Given the description of an element on the screen output the (x, y) to click on. 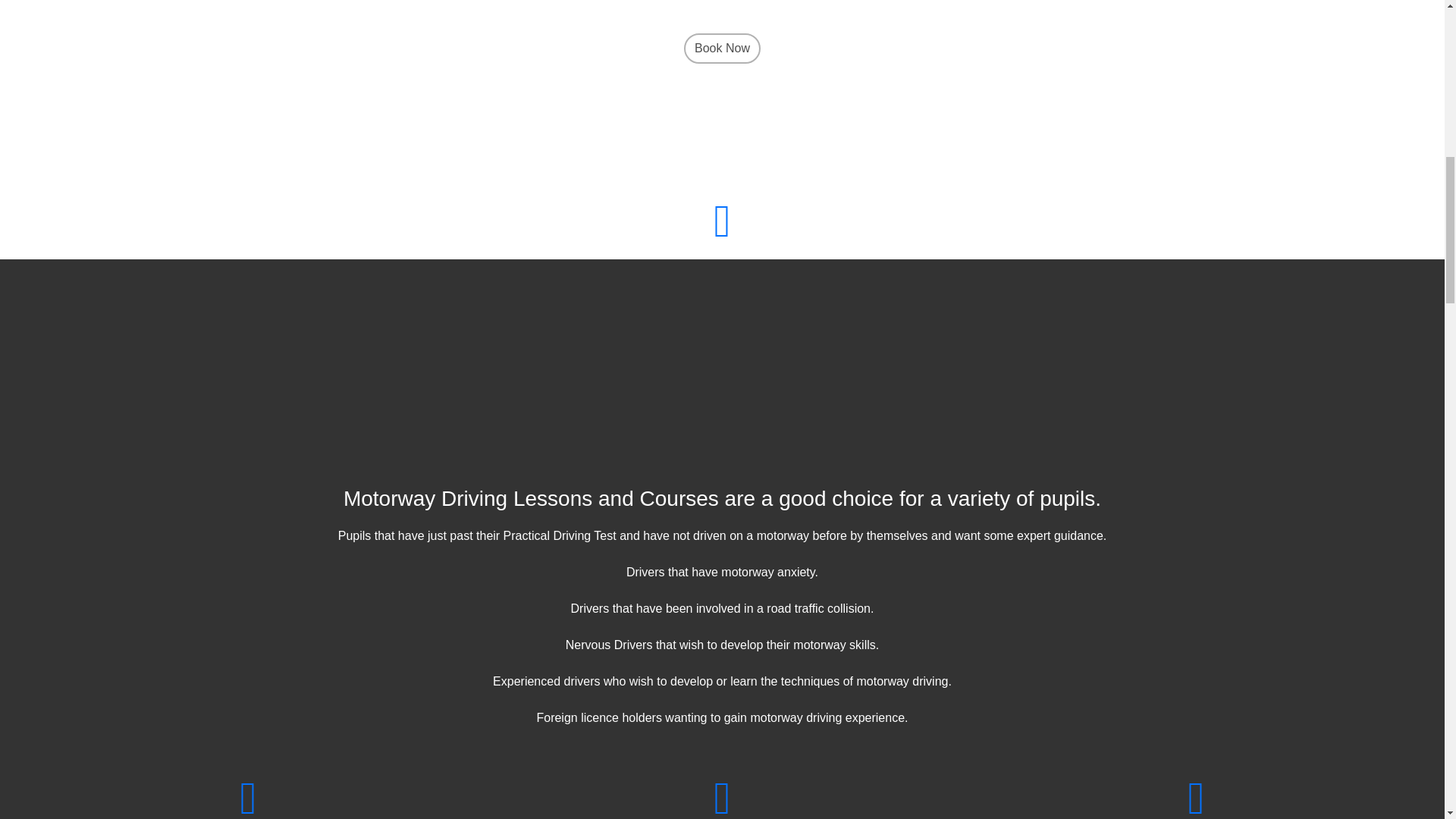
Book Now (722, 96)
